Given the description of an element on the screen output the (x, y) to click on. 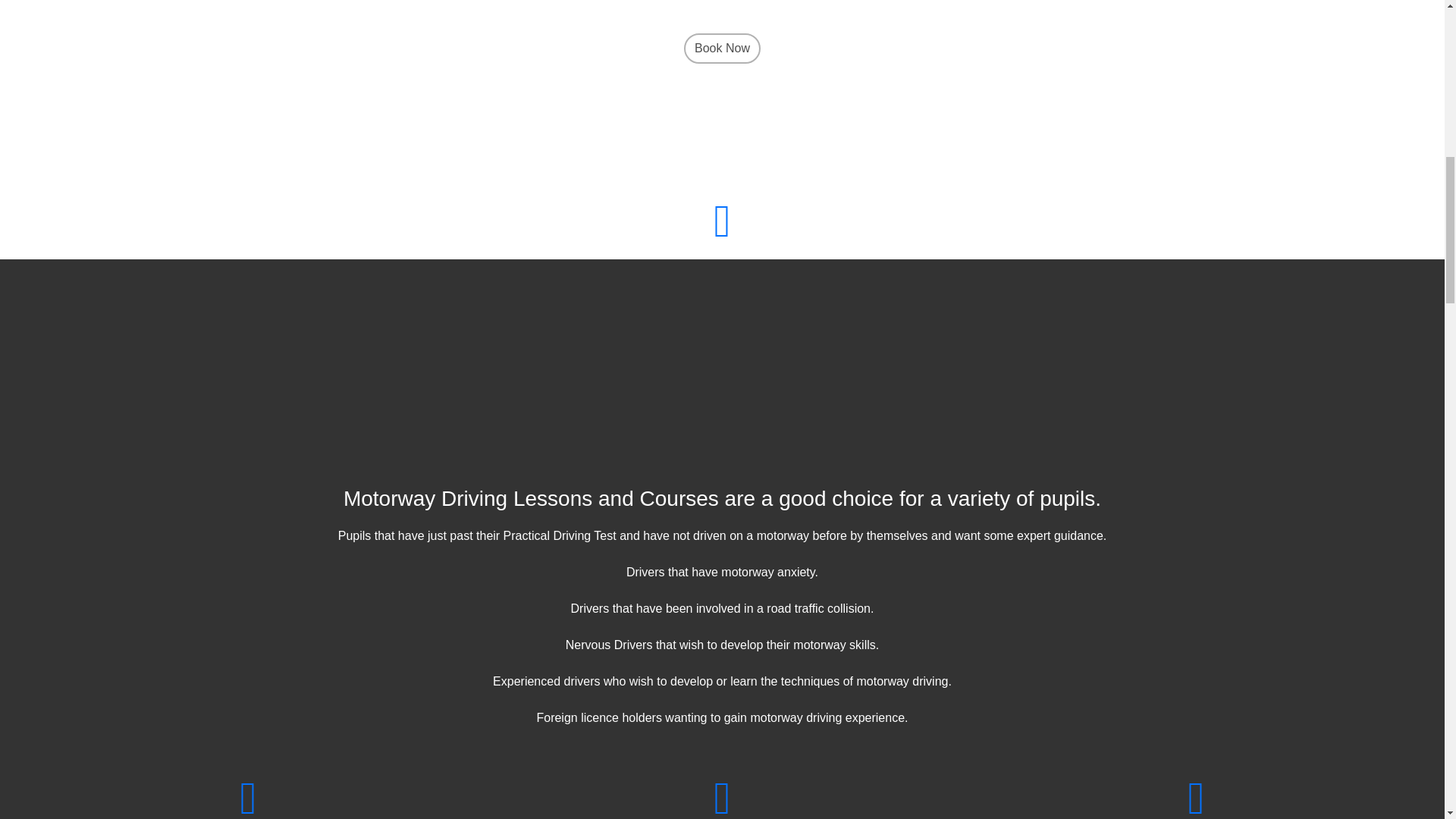
Book Now (722, 96)
